Given the description of an element on the screen output the (x, y) to click on. 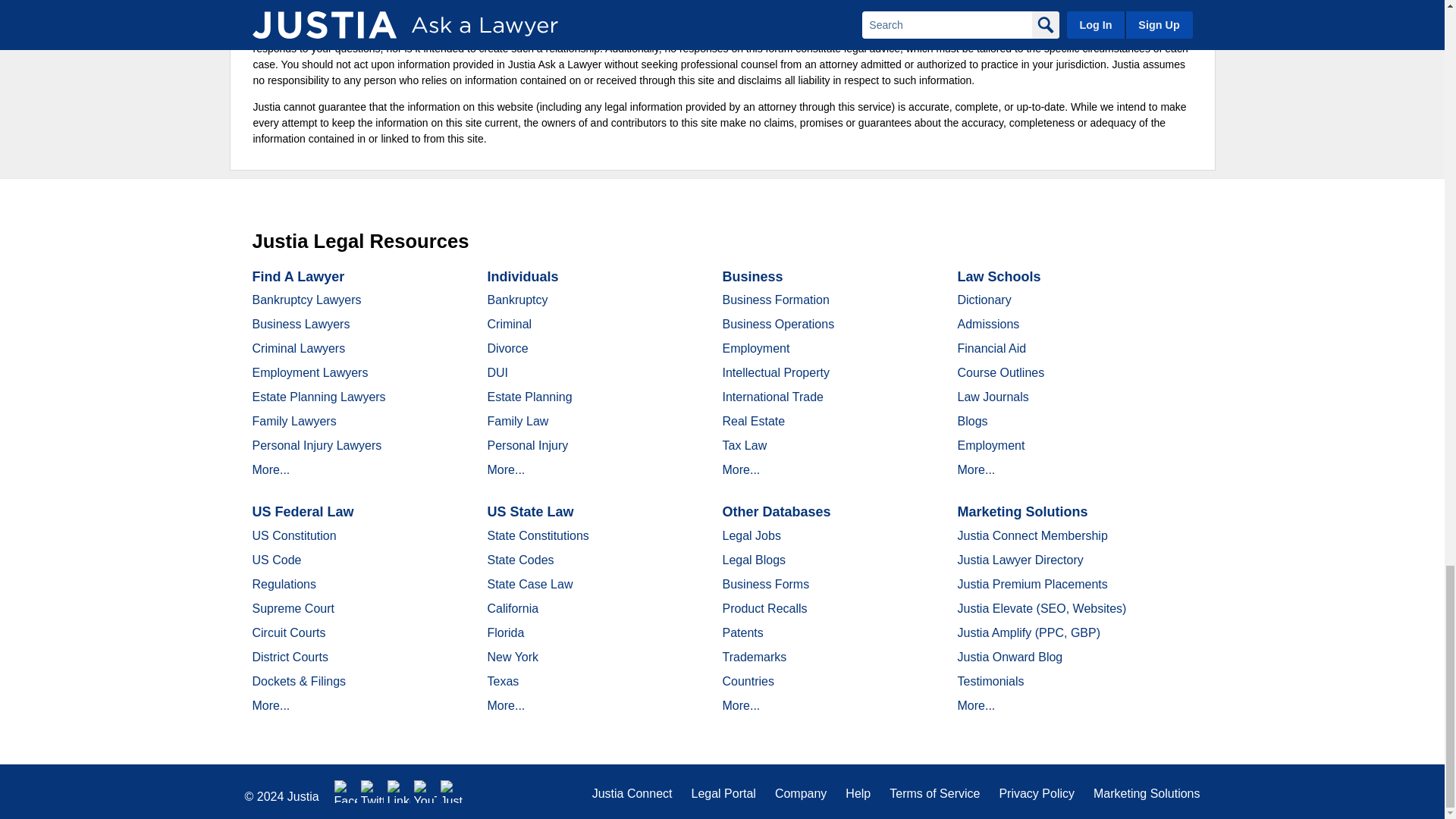
Facebook (345, 791)
YouTube (424, 791)
LinkedIn (398, 791)
Justia Lawyer Directory (452, 791)
Twitter (372, 791)
